Given the description of an element on the screen output the (x, y) to click on. 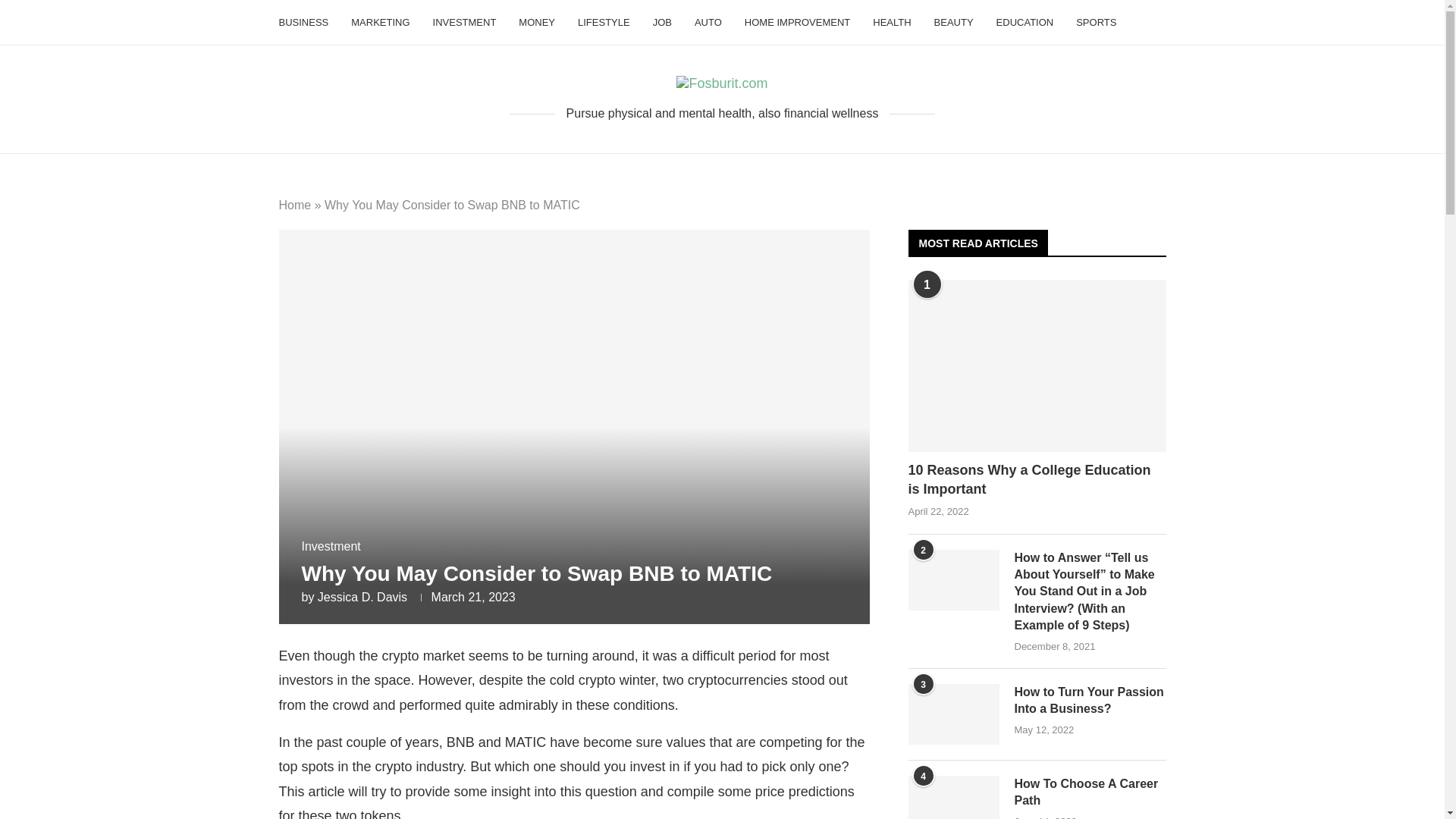
LIFESTYLE (604, 22)
HOME IMPROVEMENT (797, 22)
BUSINESS (304, 22)
Home (295, 205)
BEAUTY (954, 22)
SPORTS (1095, 22)
Jessica D. Davis (362, 596)
10 Reasons Why a College Education is Important (1037, 479)
10 Reasons Why a College Education is Important (1037, 366)
MARKETING (379, 22)
